Given the description of an element on the screen output the (x, y) to click on. 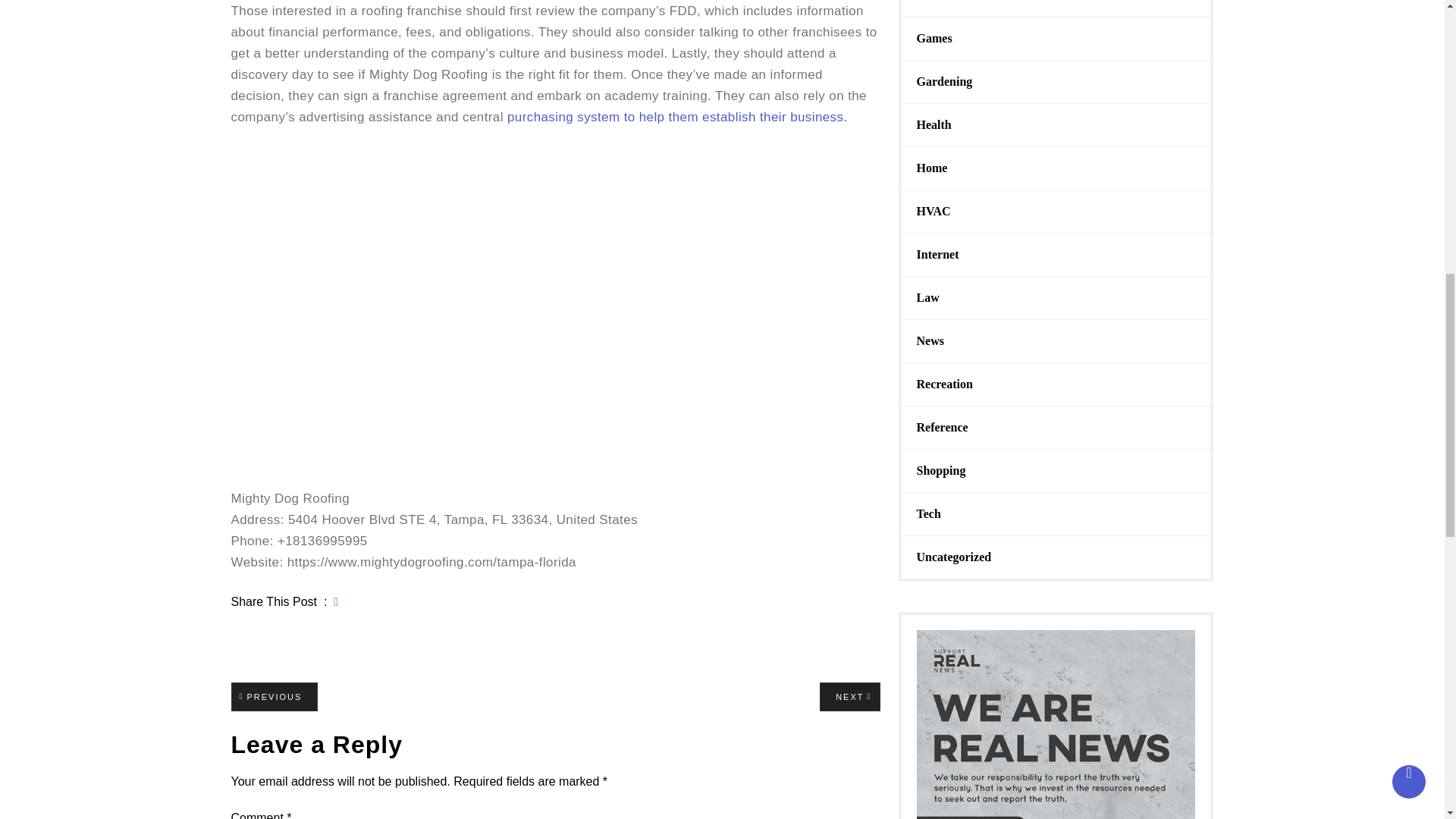
Games (849, 696)
FOOD (933, 38)
purchasing system to help them establish their business. (932, 0)
Health (676, 116)
Gardening (273, 696)
